Given the description of an element on the screen output the (x, y) to click on. 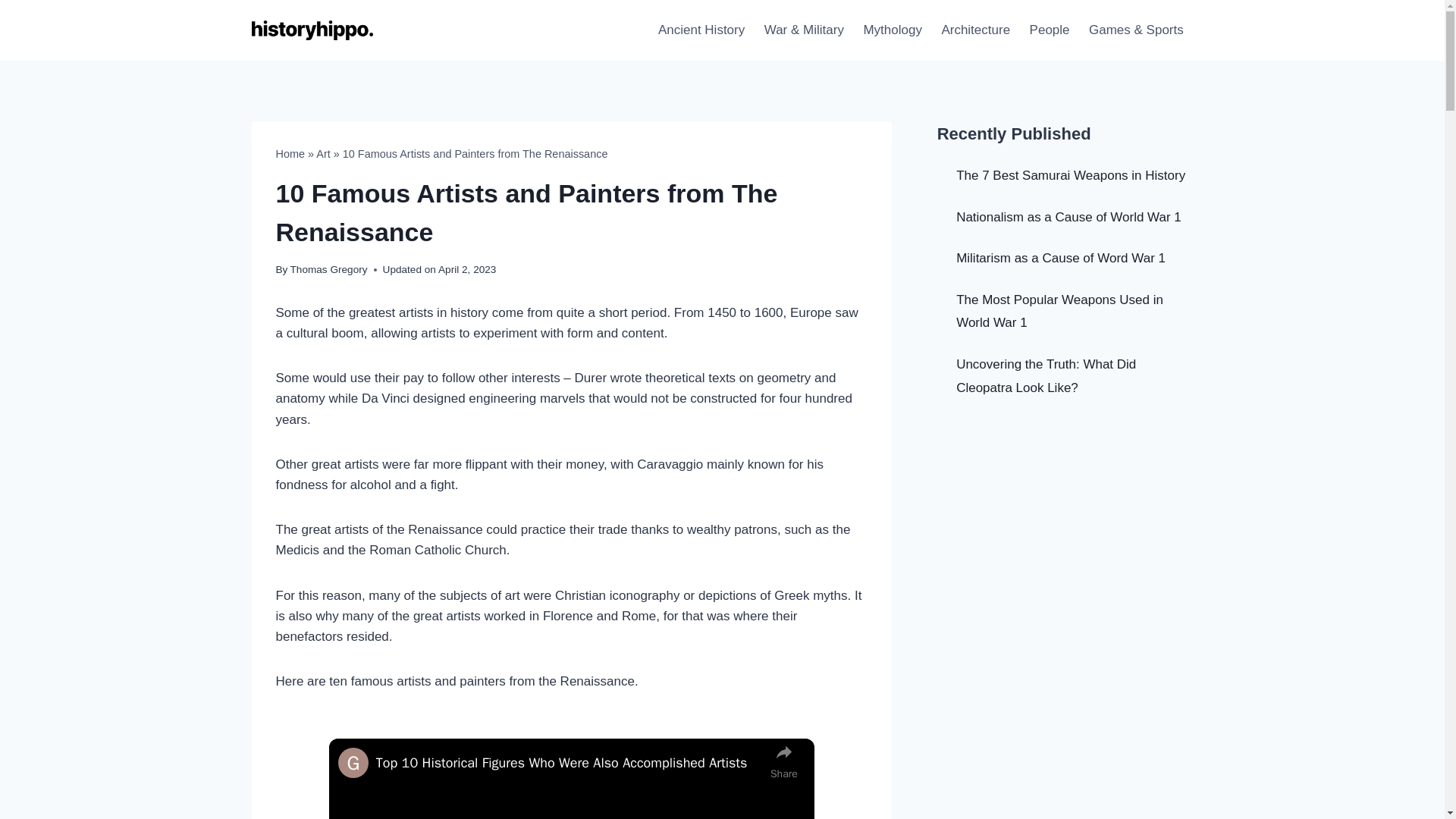
Architecture (975, 30)
Militarism as a Cause of Word War 1 (1061, 257)
Nationalism as a Cause of World War 1 (1068, 216)
Art (322, 153)
share (783, 760)
Home (290, 153)
Mythology (892, 30)
People (1049, 30)
Share (783, 760)
Top 10 Historical Figures Who Were Also Accomplished Artists (568, 762)
The 7 Best Samurai Weapons in History (1070, 175)
Uncovering the Truth: What Did Cleopatra Look Like? (1045, 375)
Ancient History (700, 30)
The Most Popular Weapons Used in World War 1 (1059, 311)
